Given the description of an element on the screen output the (x, y) to click on. 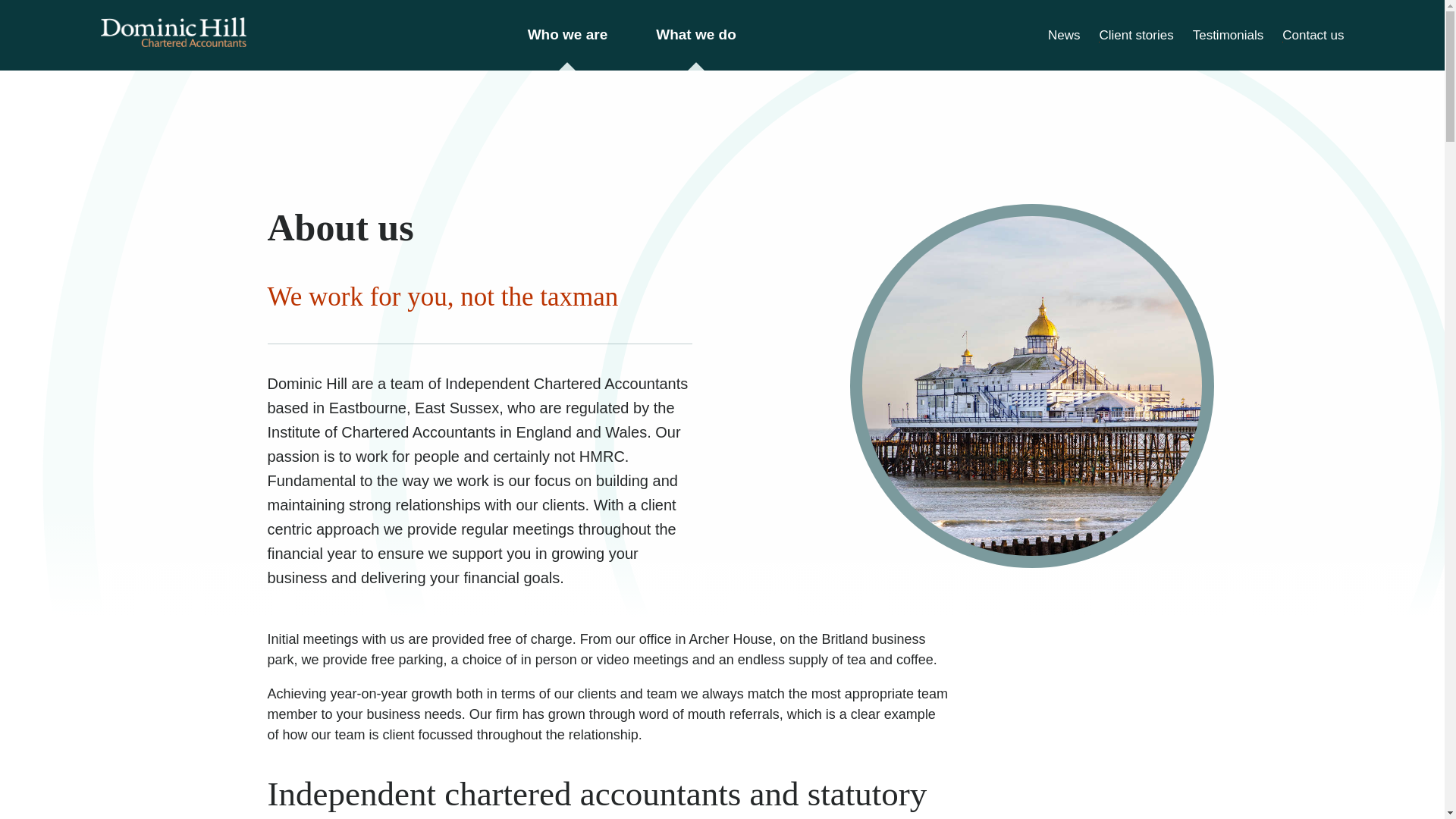
What we do (695, 35)
Client stories (1136, 34)
Testimonials (1227, 34)
News (1064, 34)
Who we are (567, 35)
Contact us (1312, 34)
